Given the description of an element on the screen output the (x, y) to click on. 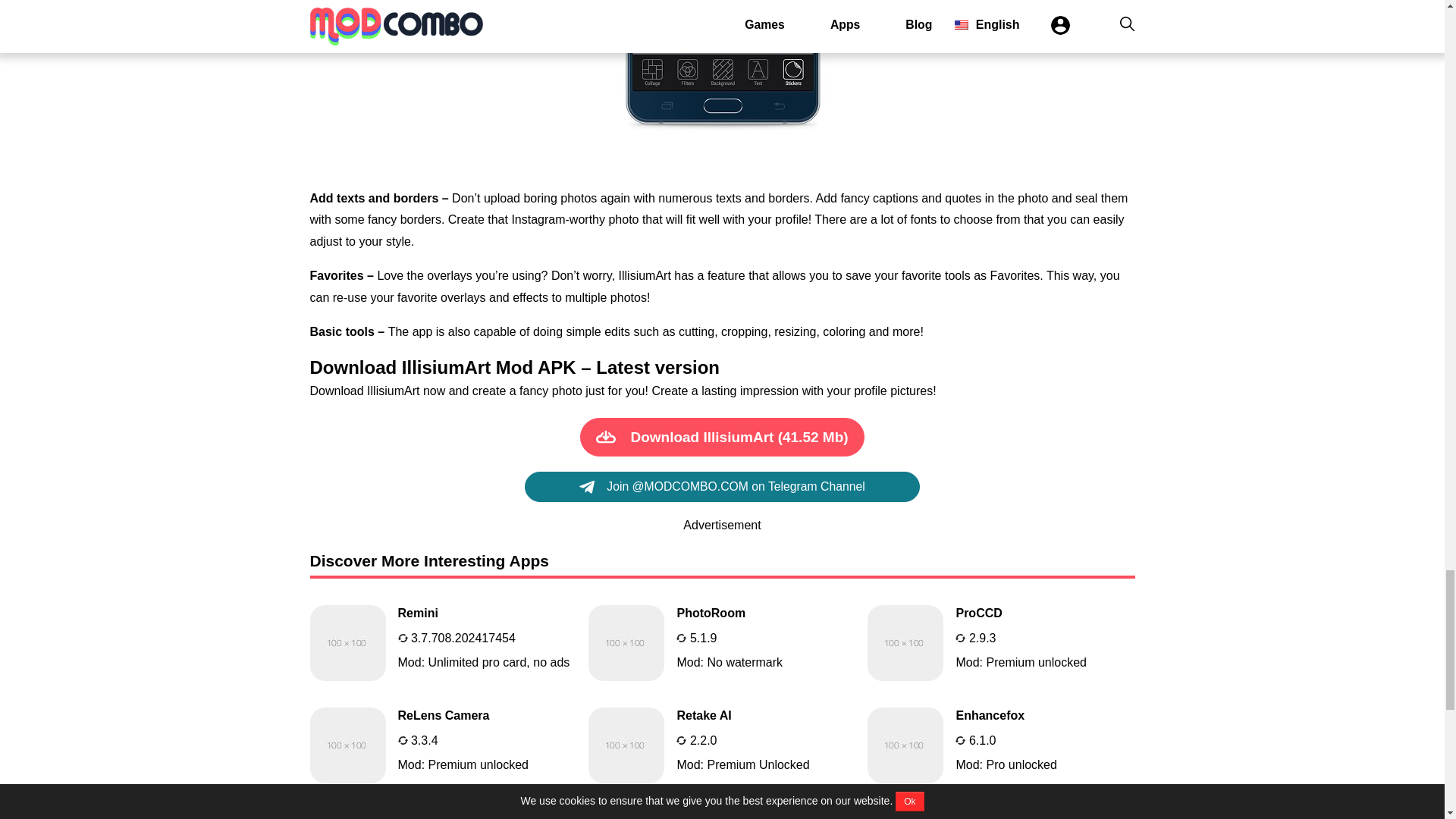
ProCCD (1000, 642)
Retake AI (722, 744)
ReLens Camera (442, 744)
Remini (1000, 642)
PhotoRoom (442, 642)
download illisiumart apk for android (442, 642)
Enhancefox (722, 642)
